Given the description of an element on the screen output the (x, y) to click on. 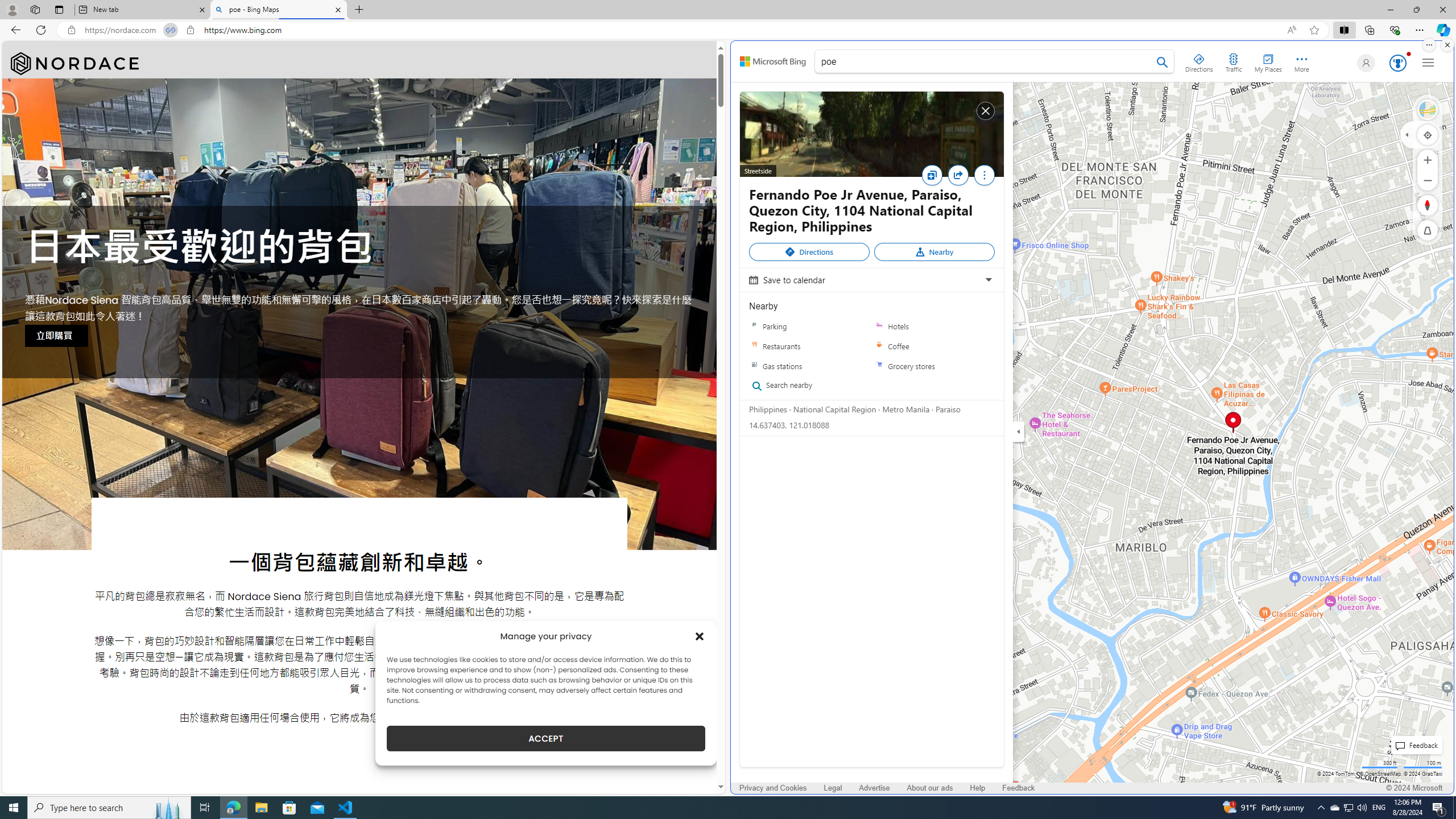
Expand/Collapse Geochain (1406, 134)
poe - Bing Maps (277, 9)
My Places (1267, 60)
Class: sbElement (772, 60)
Parking (754, 326)
Reset to Default Pitch (1427, 230)
Add a search (986, 60)
More options. (1428, 45)
Share (960, 178)
Restaurants (808, 345)
